Given the description of an element on the screen output the (x, y) to click on. 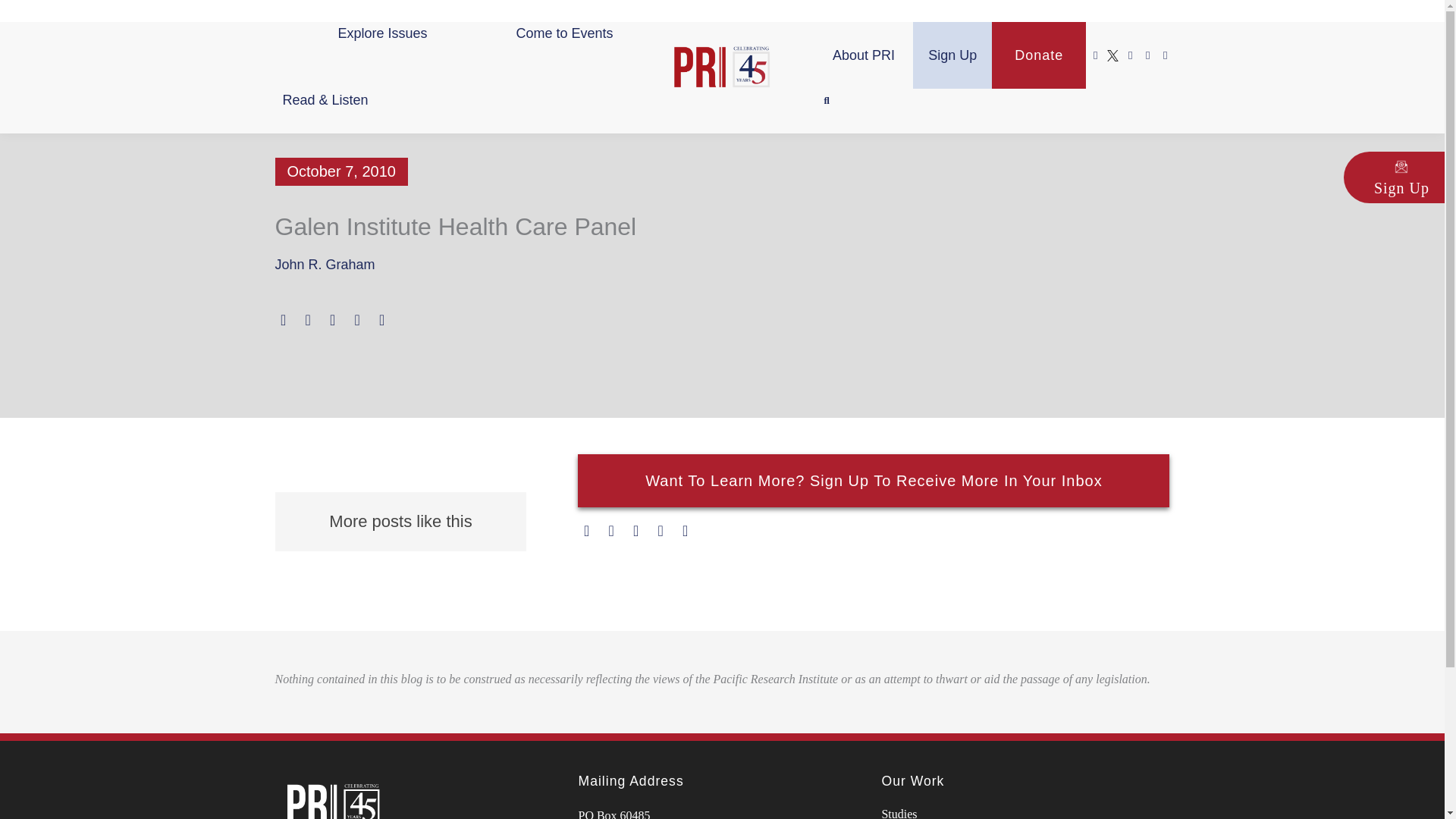
Explore Issues (381, 33)
Come to Events (563, 33)
